Given the description of an element on the screen output the (x, y) to click on. 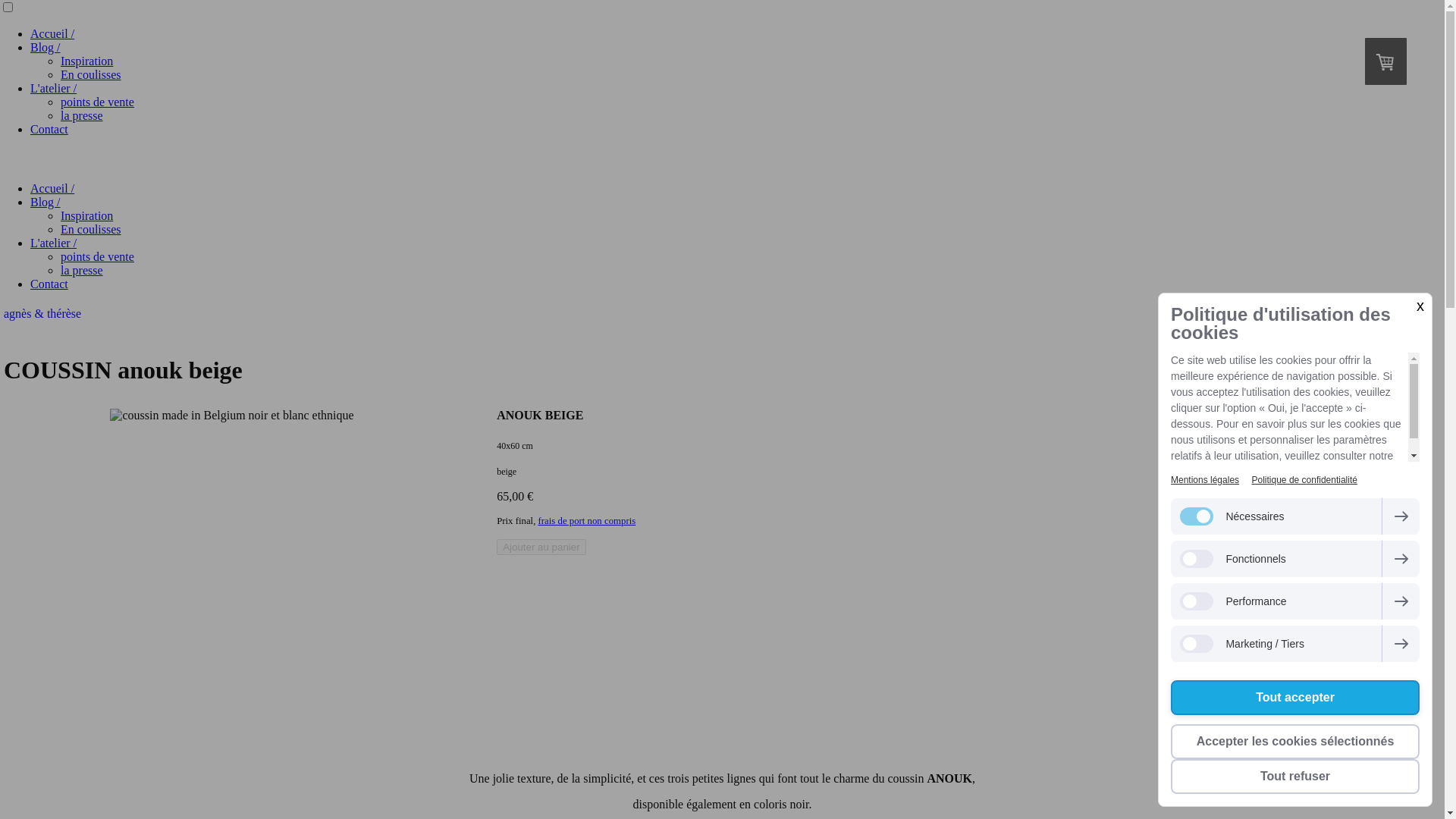
points de vente Element type: text (97, 101)
En coulisses Element type: text (90, 74)
Blog / Element type: text (45, 201)
En coulisses Element type: text (90, 228)
Ajouter au panier Element type: text (541, 547)
Tout refuser Element type: text (1294, 776)
Accueil / Element type: text (52, 188)
points de vente Element type: text (97, 256)
la presse Element type: text (81, 269)
Blog / Element type: text (45, 46)
Contact Element type: text (49, 128)
la presse Element type: text (81, 115)
Contact Element type: text (49, 283)
Inspiration Element type: text (86, 60)
Tout accepter Element type: text (1294, 697)
Inspiration Element type: text (86, 215)
Accueil / Element type: text (52, 33)
L'atelier / Element type: text (53, 242)
L'atelier / Element type: text (53, 87)
frais de port non compris Element type: text (587, 520)
